Given the description of an element on the screen output the (x, y) to click on. 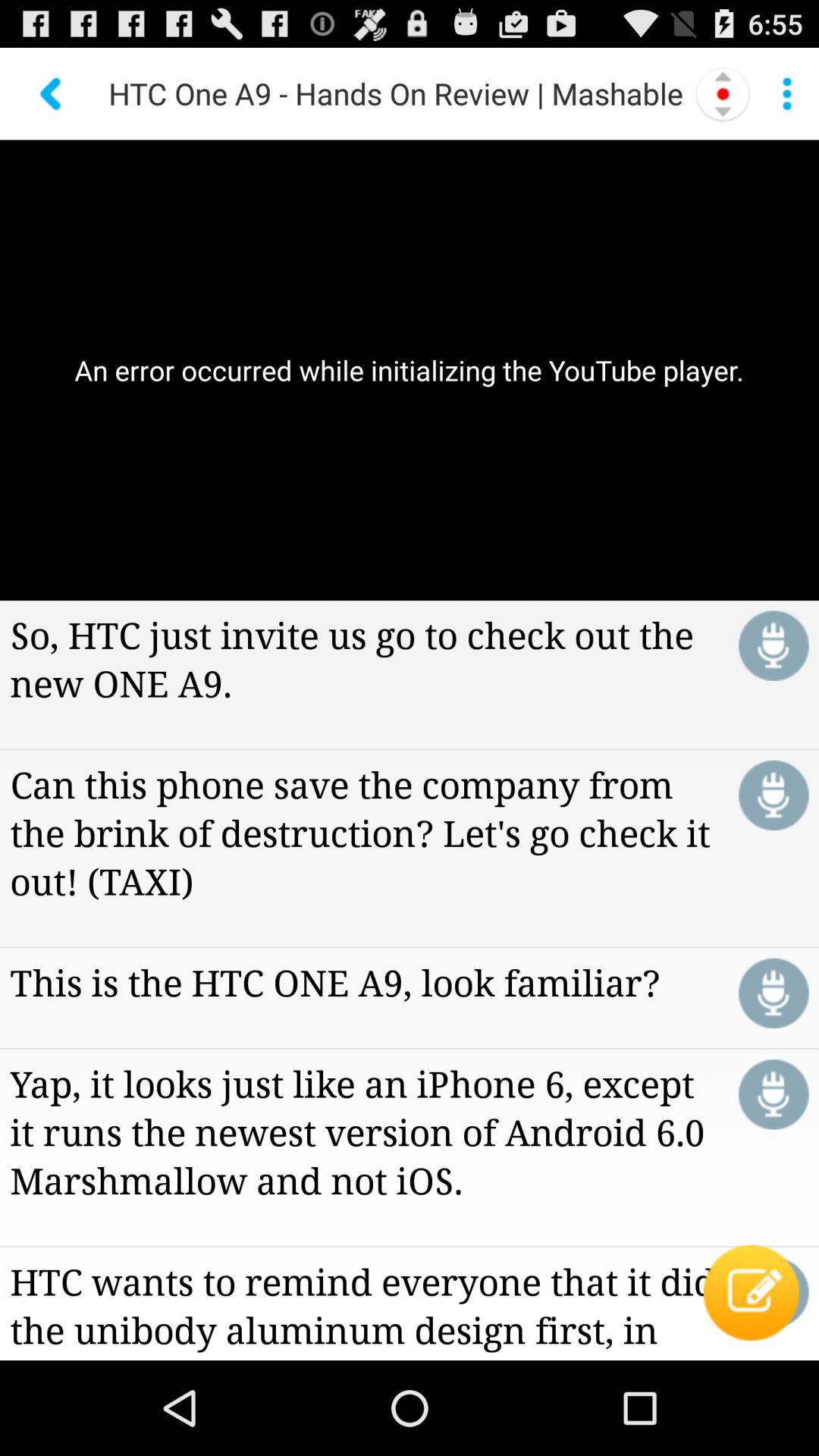
mic option (773, 795)
